Given the description of an element on the screen output the (x, y) to click on. 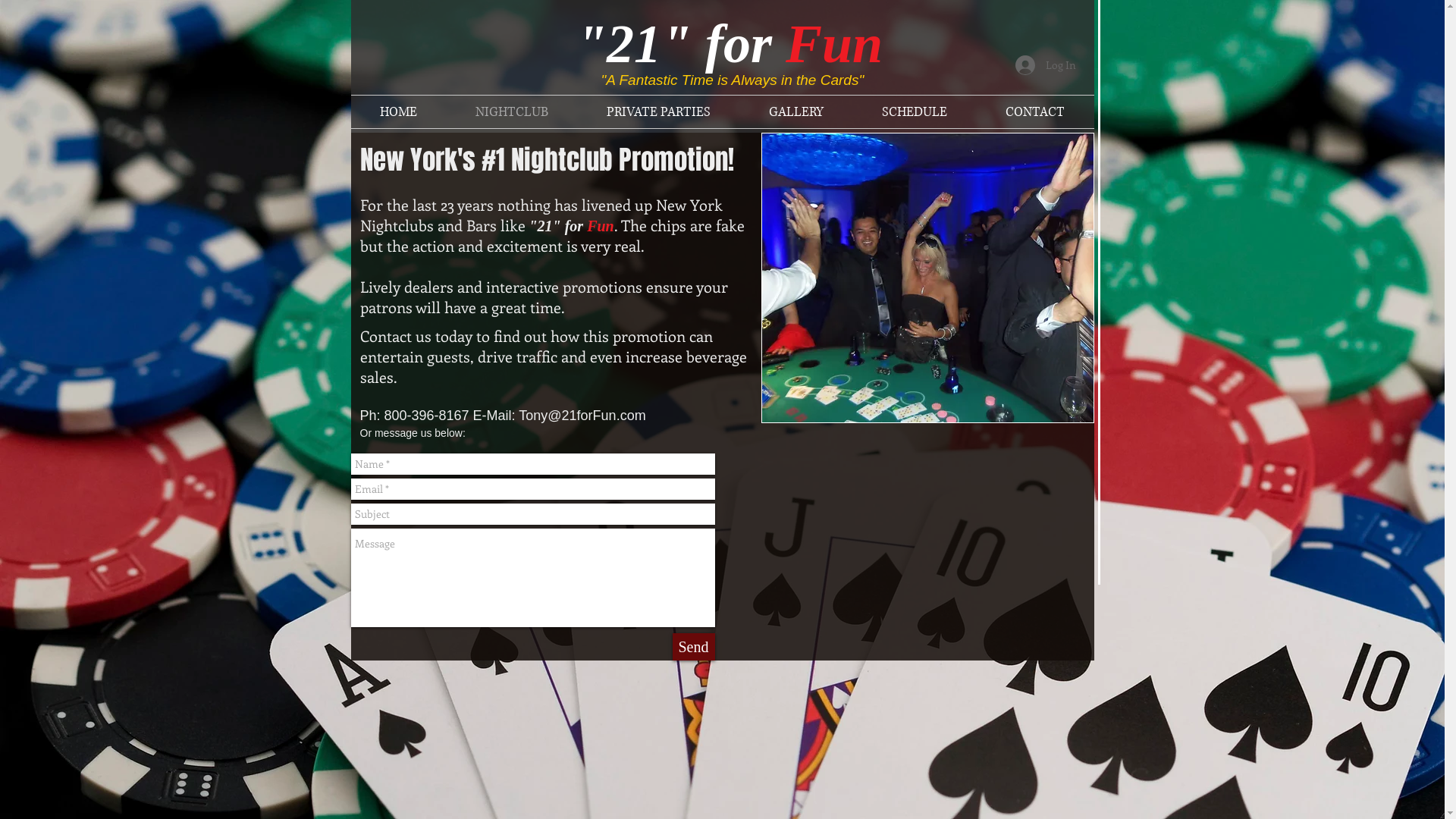
PRIVATE PARTIES Element type: text (658, 111)
HOME Element type: text (397, 111)
Tony@21forFun.com Element type: text (581, 415)
GALLERY Element type: text (796, 111)
Send Element type: text (692, 646)
SCHEDULE Element type: text (913, 111)
WEB-STAT Element type: hover (691, 687)
NIGHTCLUB Element type: text (511, 111)
CONTACT Element type: text (1035, 111)
Log In Element type: text (1044, 64)
